Given the description of an element on the screen output the (x, y) to click on. 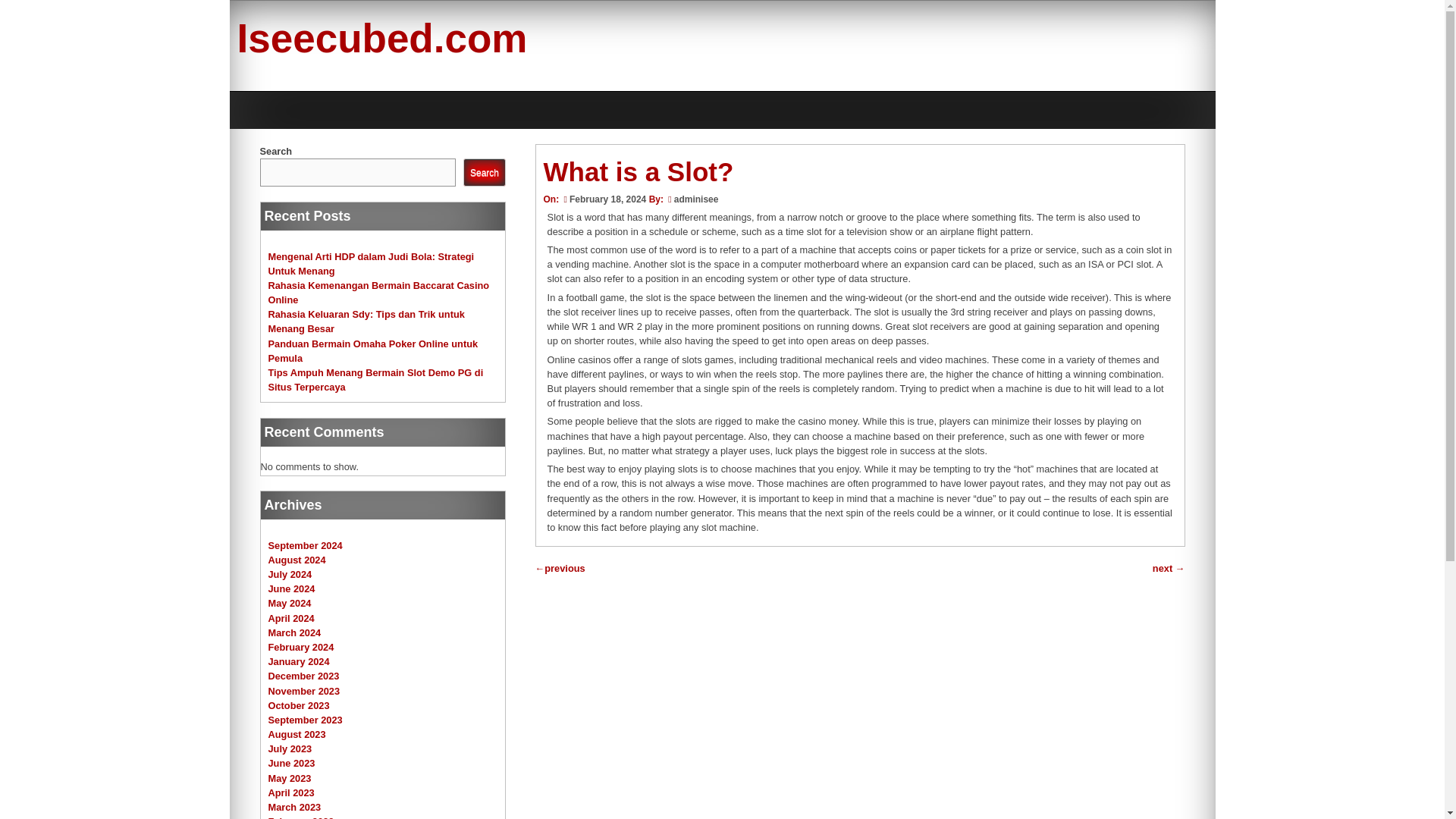
August 2024 (296, 559)
April 2023 (290, 792)
March 2023 (294, 807)
Tips Ampuh Menang Bermain Slot Demo PG di Situs Terpercaya (375, 379)
Panduan Bermain Omaha Poker Online untuk Pemula (373, 350)
August 2023 (296, 734)
June 2023 (291, 763)
adminisee (696, 199)
April 2024 (290, 618)
June 2024 (291, 588)
